Given the description of an element on the screen output the (x, y) to click on. 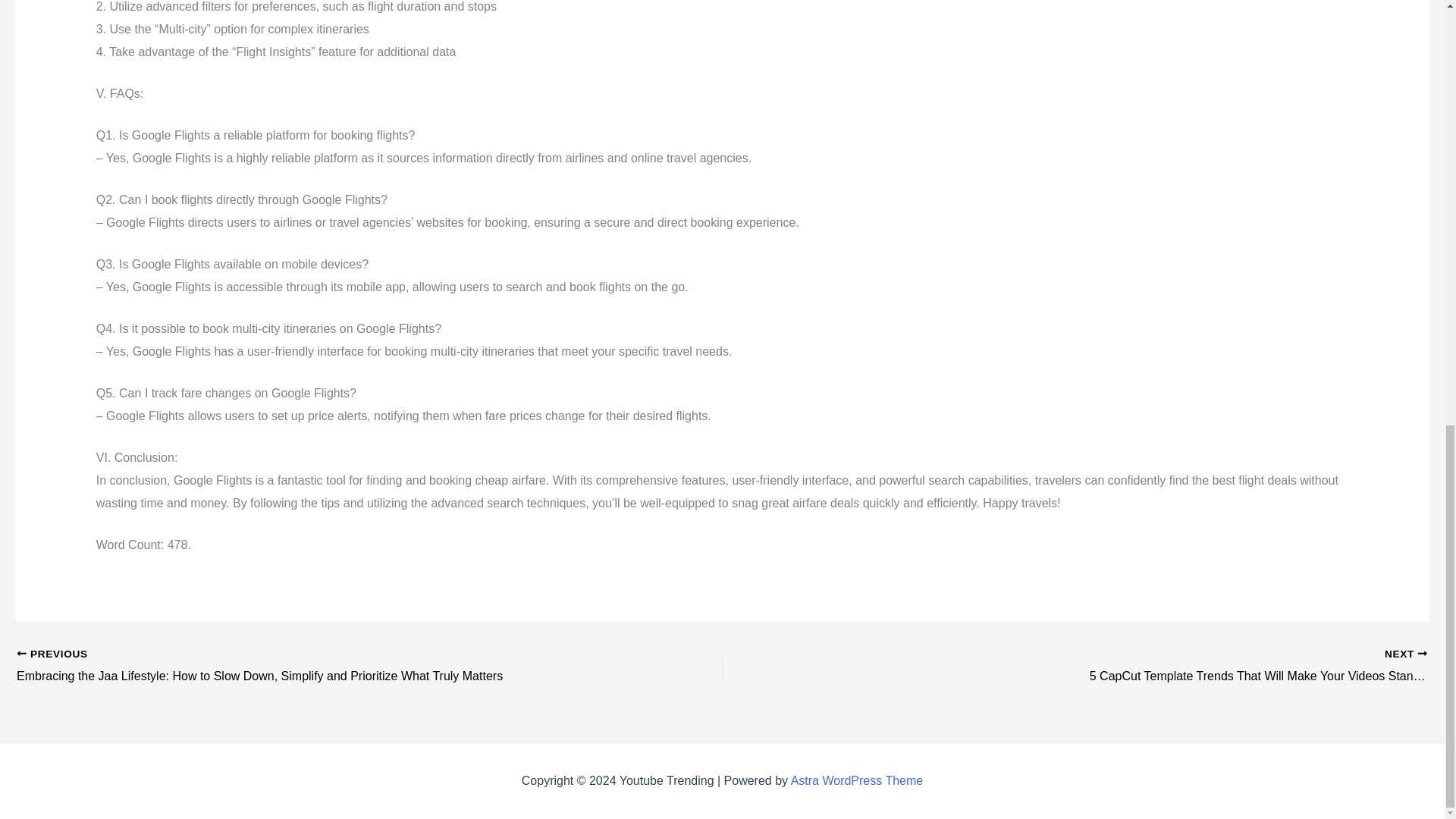
Astra WordPress Theme (856, 780)
